Given the description of an element on the screen output the (x, y) to click on. 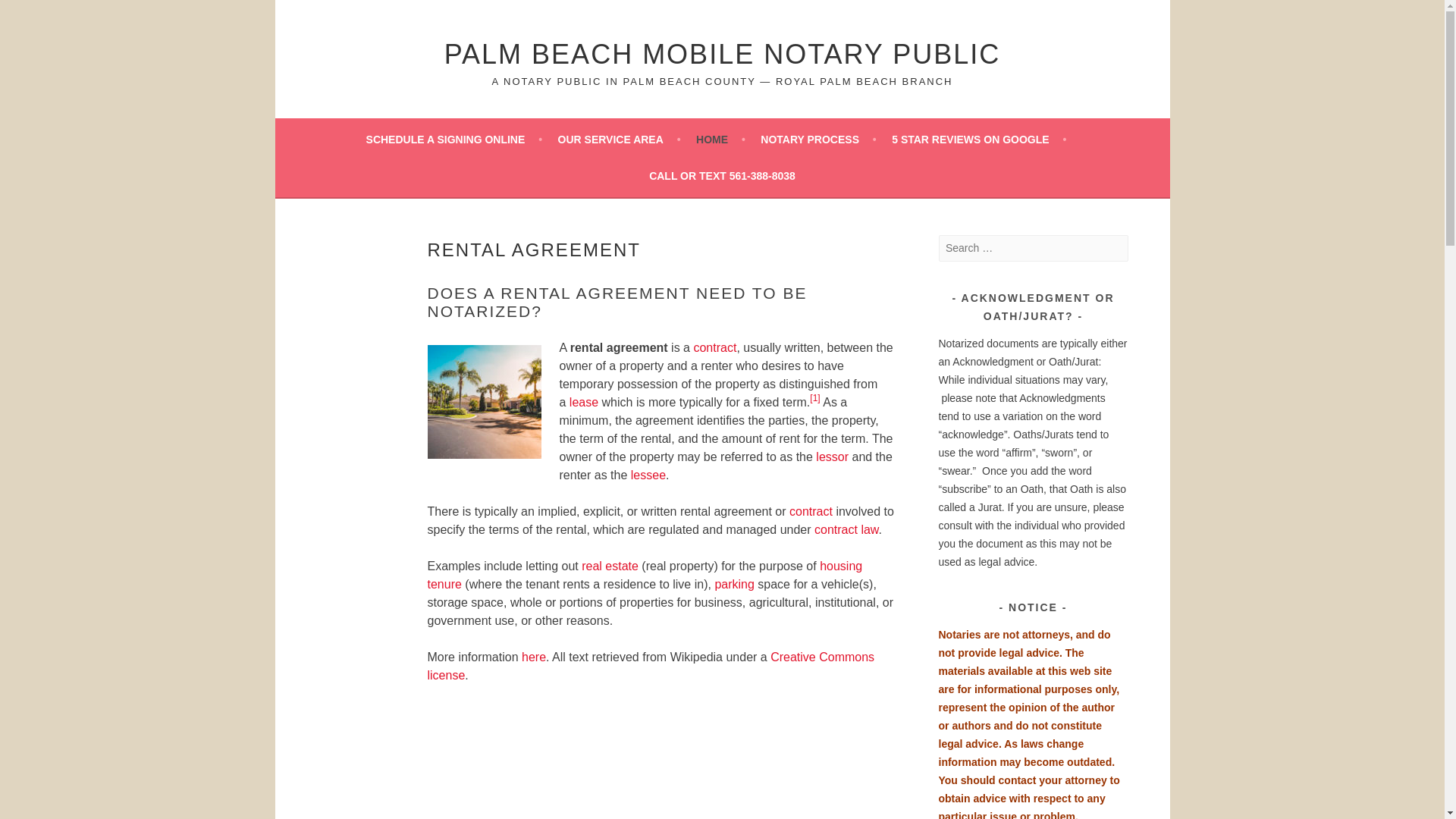
lease (583, 401)
contract (810, 511)
Housing tenure (645, 574)
CALL OR TEXT 561-388-8038 (721, 176)
lessor (831, 456)
Contract law (845, 529)
lessee (647, 474)
5 STAR REVIEWS ON GOOGLE (978, 139)
Contract (810, 511)
Lease (583, 401)
PALM BEACH MOBILE NOTARY PUBLIC (722, 53)
contract (714, 347)
Palm Beach Mobile Notary Public (722, 53)
Parking (734, 584)
contract law (845, 529)
